Given the description of an element on the screen output the (x, y) to click on. 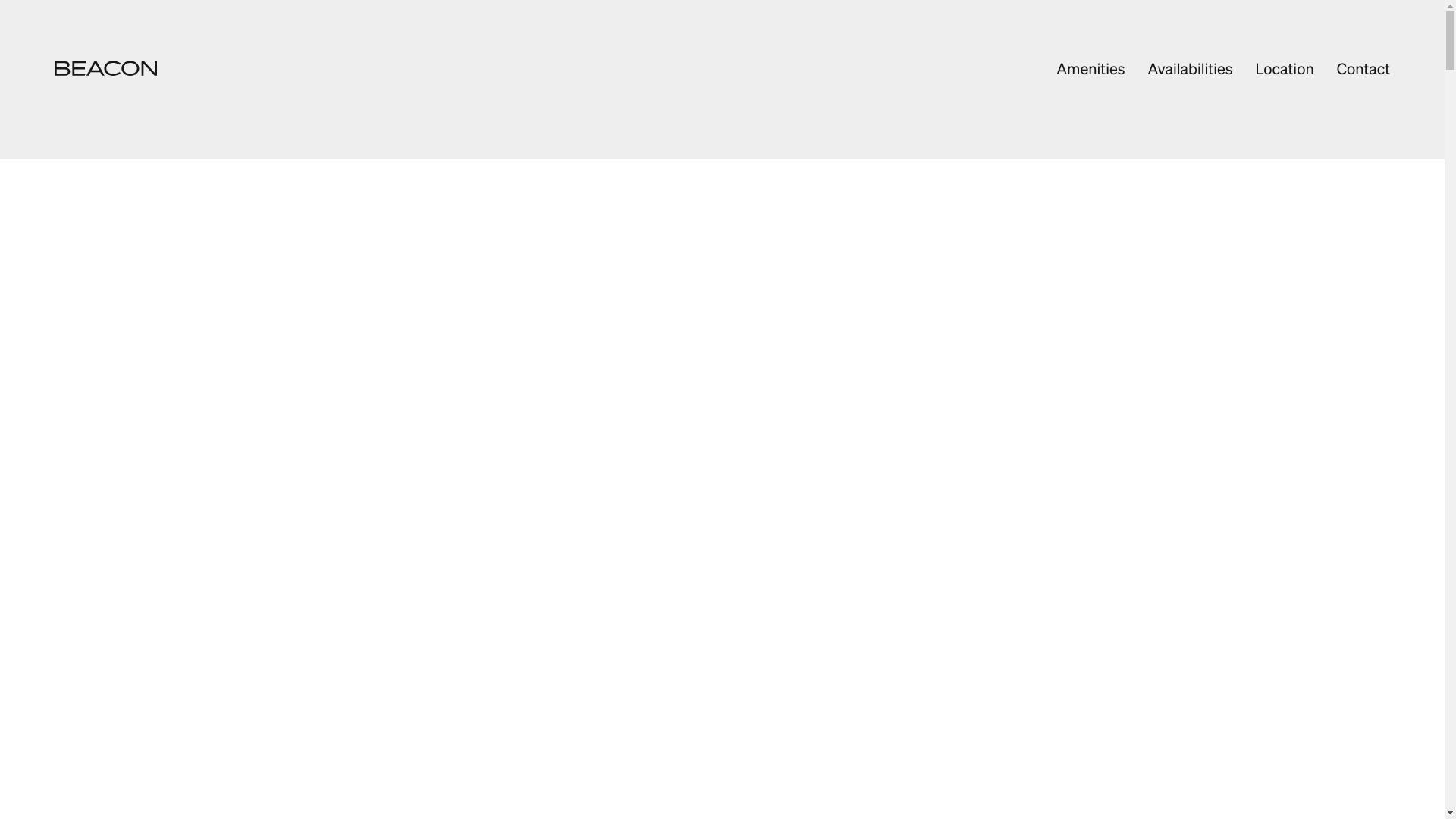
Availabilities Element type: text (1189, 68)
Contact Element type: text (1363, 68)
Back to top Element type: text (721, 67)
Beacon Capital Partners Element type: text (105, 67)
Amenities Element type: text (1090, 68)
Location Element type: text (1284, 68)
